Given the description of an element on the screen output the (x, y) to click on. 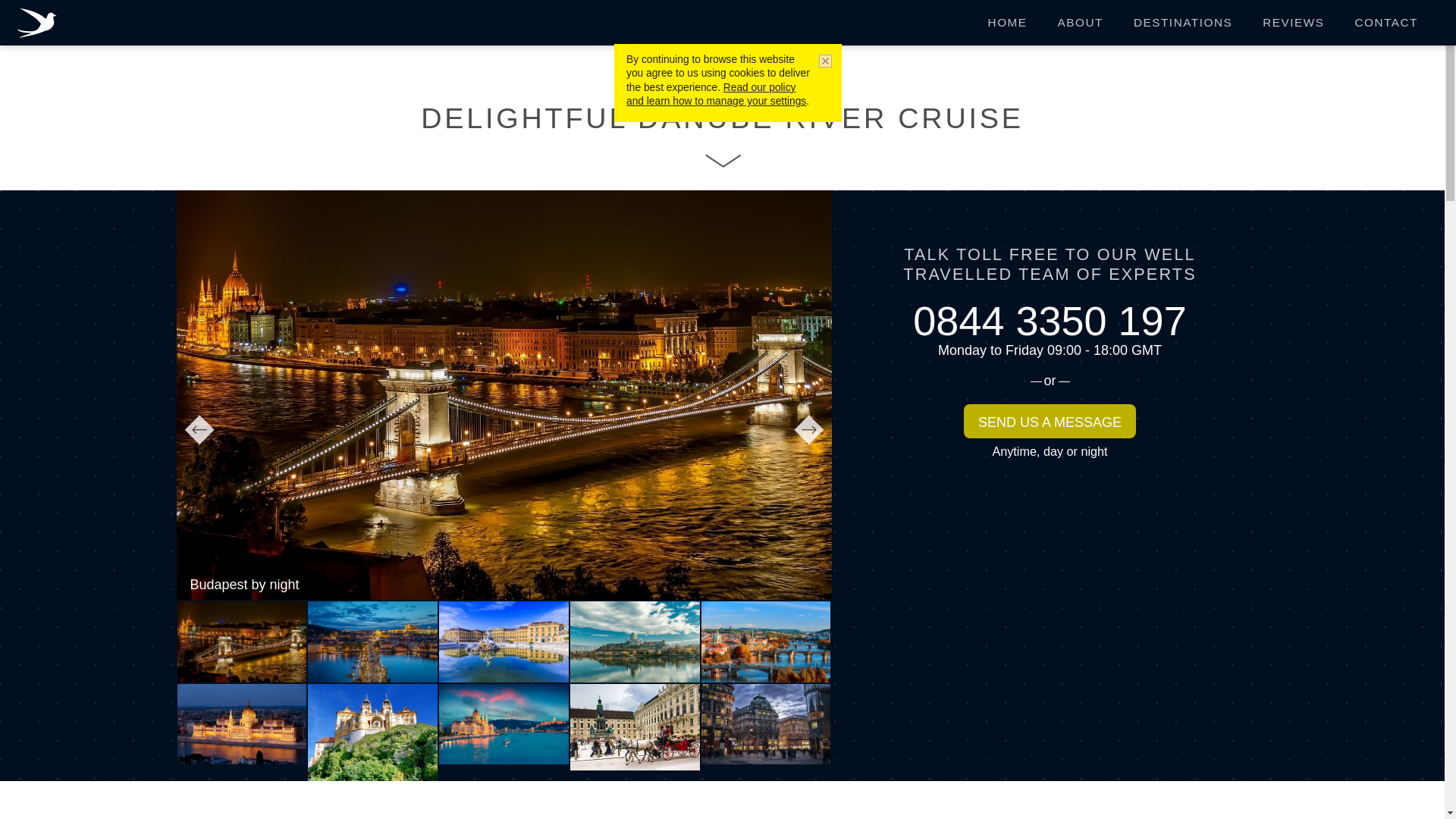
HOME (1007, 22)
The Big Journey Company (39, 24)
Close this message (823, 62)
0844 3350 197 (1049, 320)
SEND US A MESSAGE (1049, 421)
CONTACT (1385, 22)
DESTINATIONS (1182, 22)
ABOUT (1080, 22)
Close (823, 62)
REVIEWS (1293, 22)
